Given the description of an element on the screen output the (x, y) to click on. 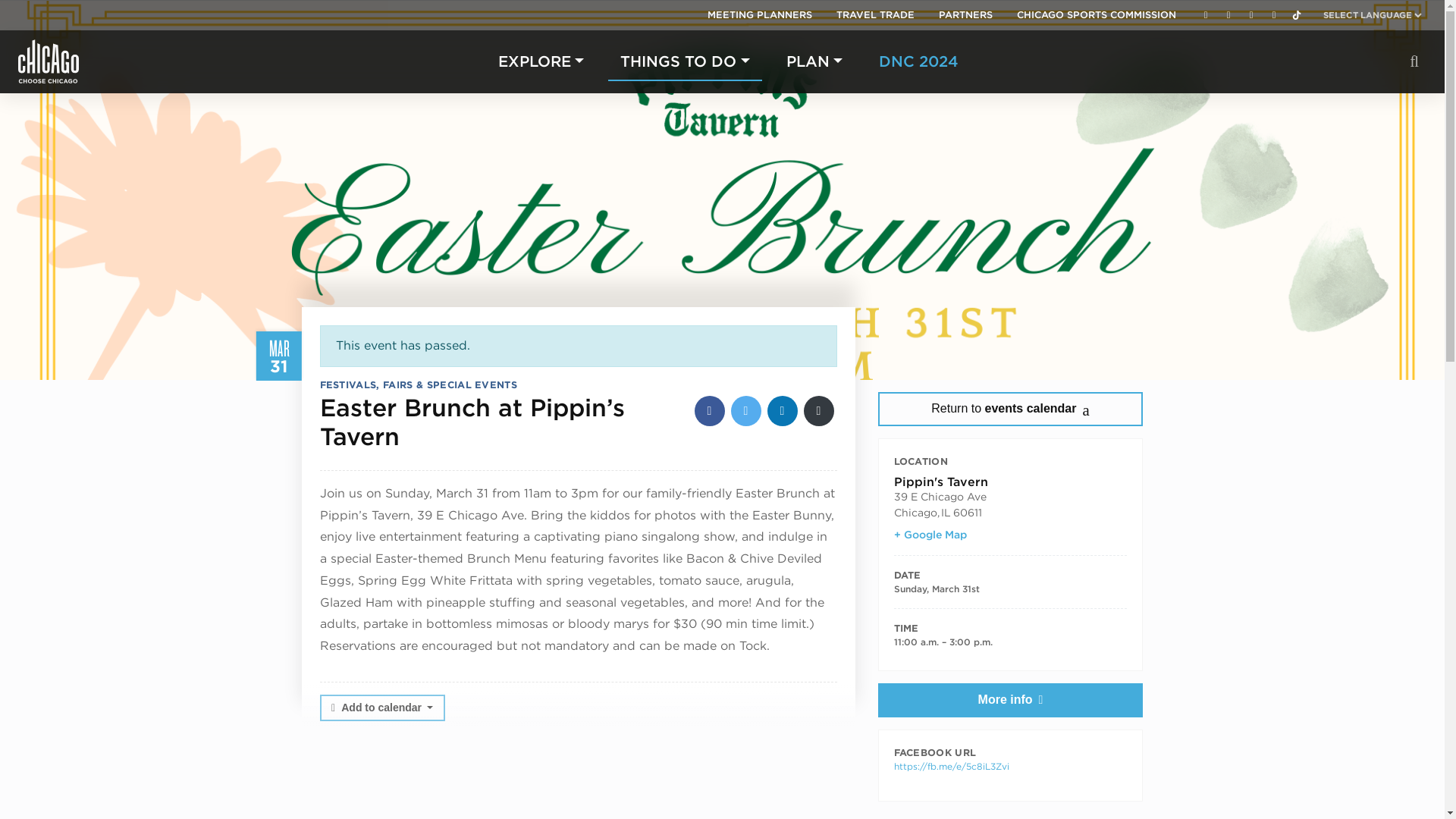
2024-03-31 (935, 588)
Share on LinkedIn (782, 410)
2024-03-31 (1009, 642)
Share on Twitter (745, 410)
Share on Facebook (709, 410)
Click to view a Google Map (929, 534)
EXPLORE (540, 61)
THINGS TO DO (684, 61)
Email a friend (818, 410)
